Given the description of an element on the screen output the (x, y) to click on. 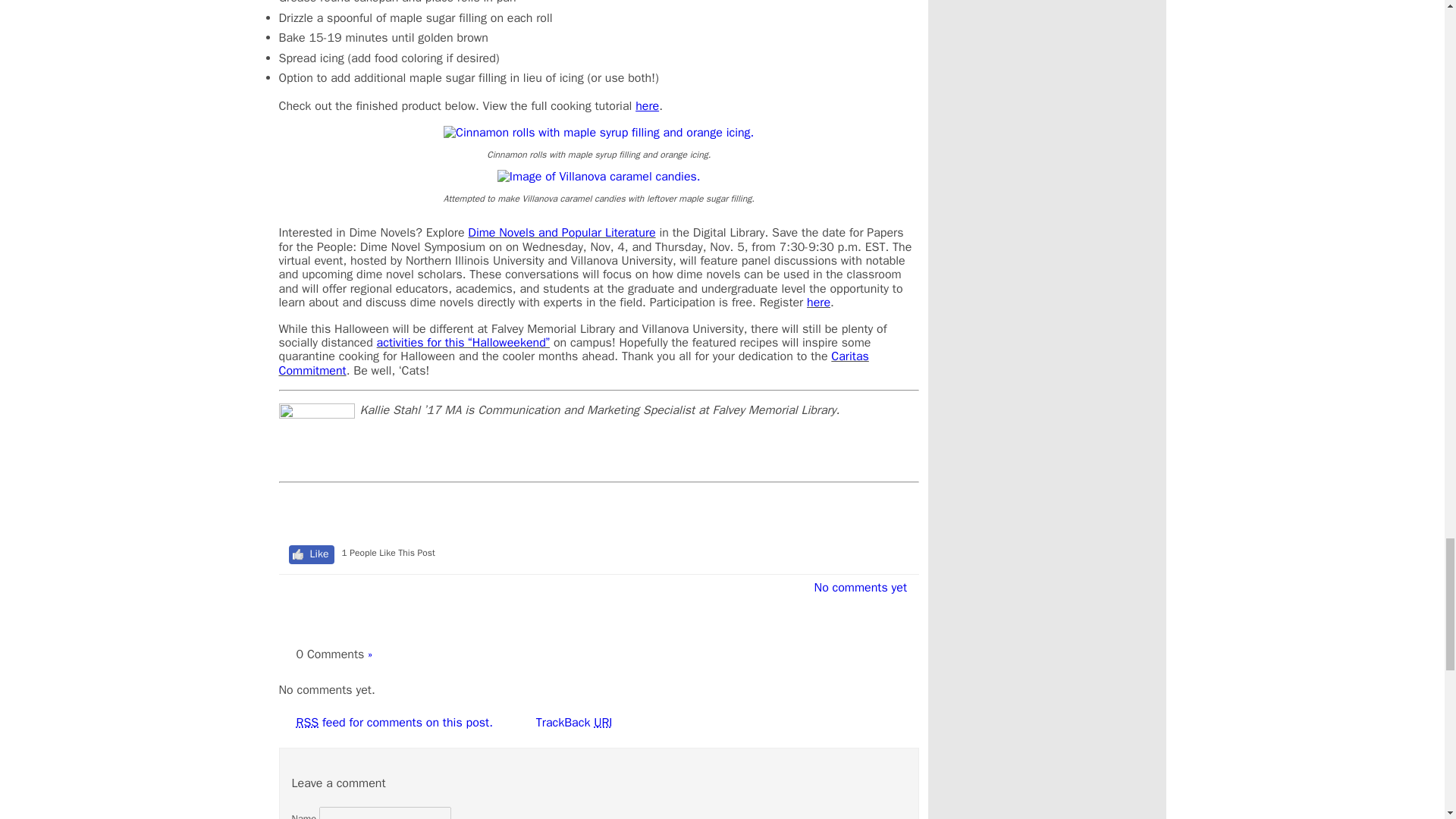
Really Simple Syndication (306, 722)
Uniform Resource Identifier (602, 722)
